Given the description of an element on the screen output the (x, y) to click on. 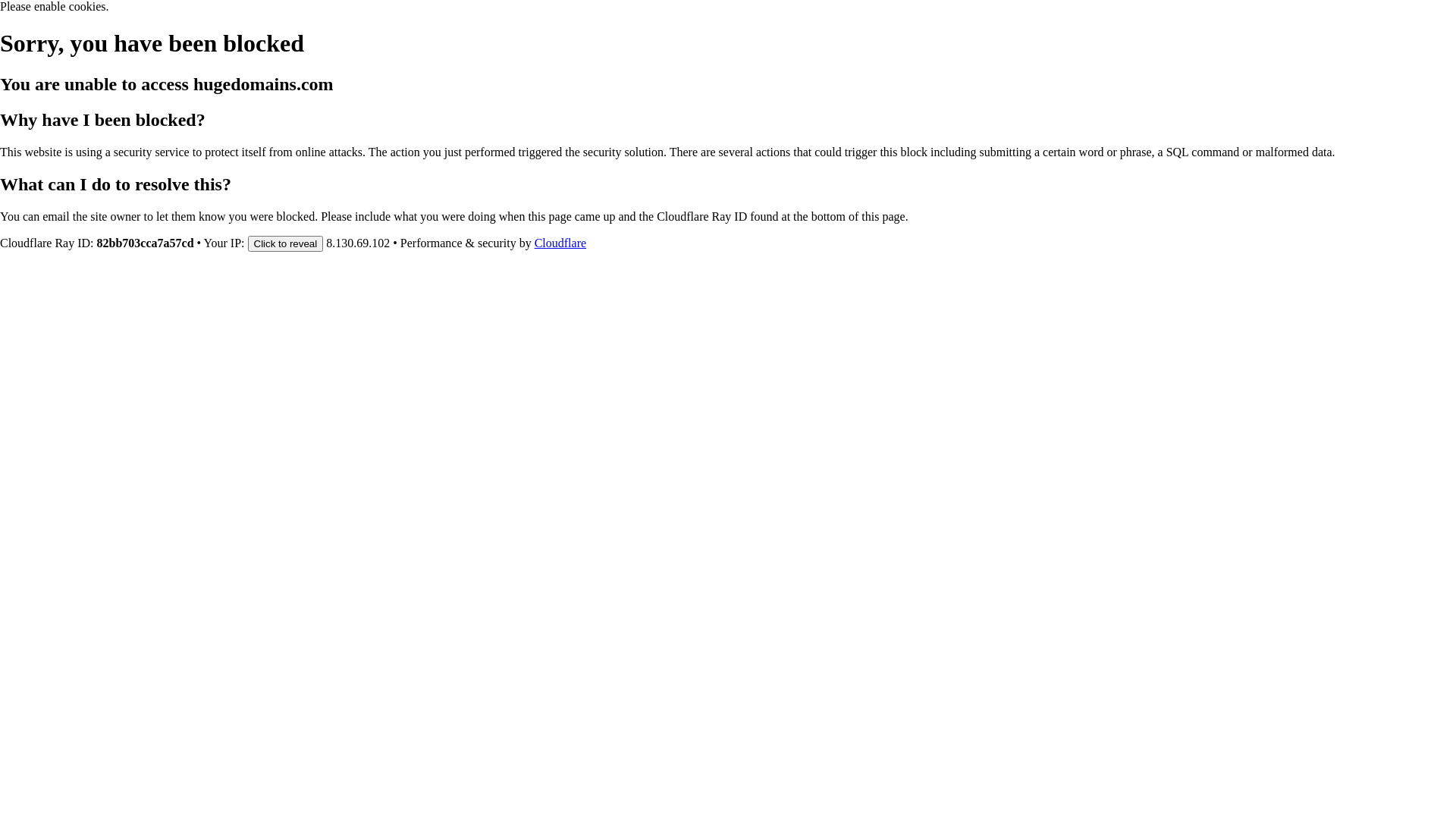
Click to reveal Element type: text (285, 243)
Cloudflare Element type: text (560, 242)
